Given the description of an element on the screen output the (x, y) to click on. 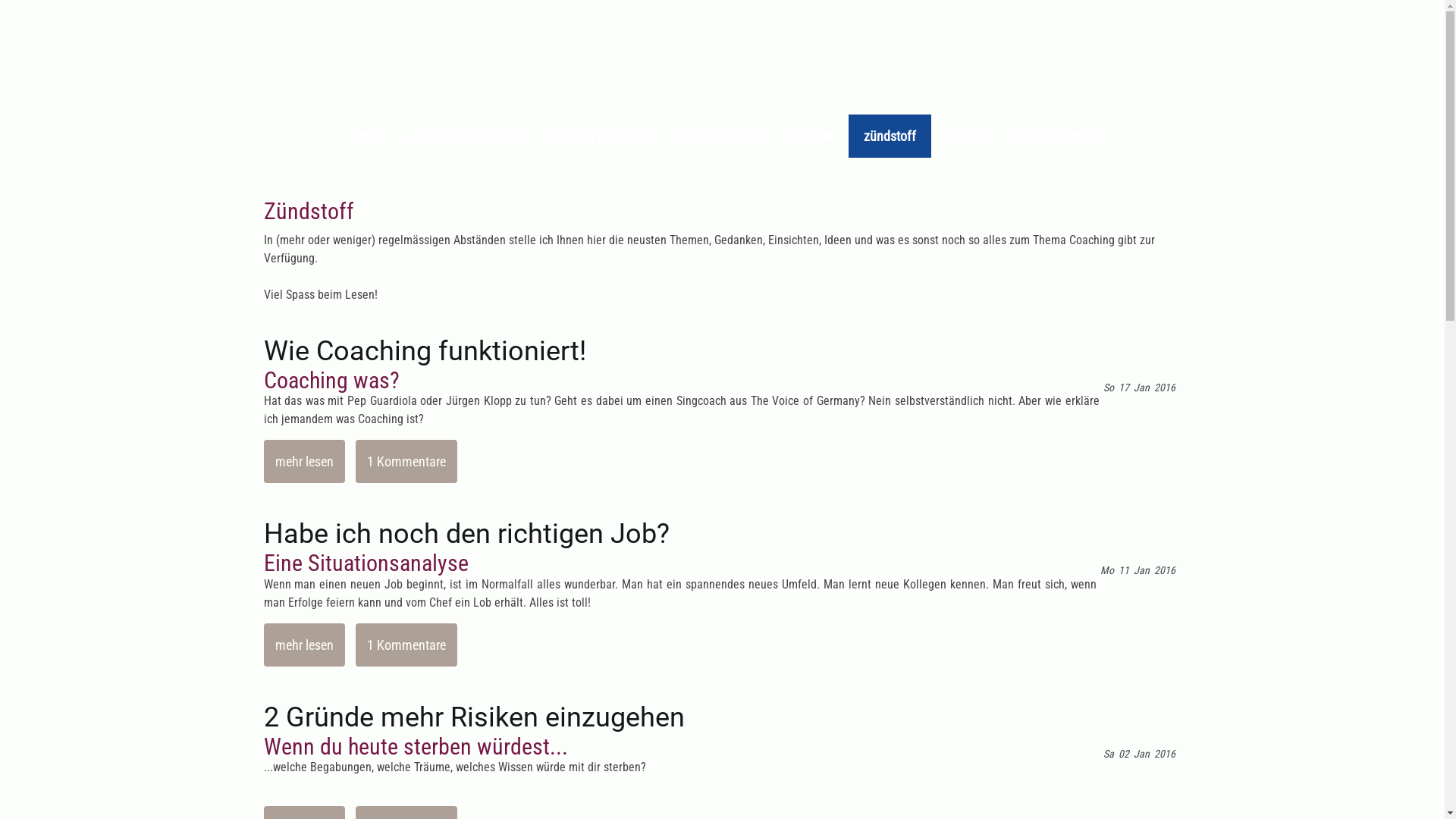
kontakt Element type: text (966, 135)
Wie Coaching funktioniert! Element type: text (722, 350)
partner Element type: text (813, 135)
news & events Element type: text (1054, 135)
mehr lesen Element type: text (304, 644)
1 Kommentare Element type: text (405, 461)
mehr lesen Element type: text (304, 461)
coaching angebote Element type: text (463, 135)
home Element type: text (366, 135)
coaching ablauf Element type: text (721, 135)
coaching definition Element type: text (595, 135)
Habe ich noch den richtigen Job? Element type: text (722, 534)
1 Kommentare Element type: text (405, 644)
